Given the description of an element on the screen output the (x, y) to click on. 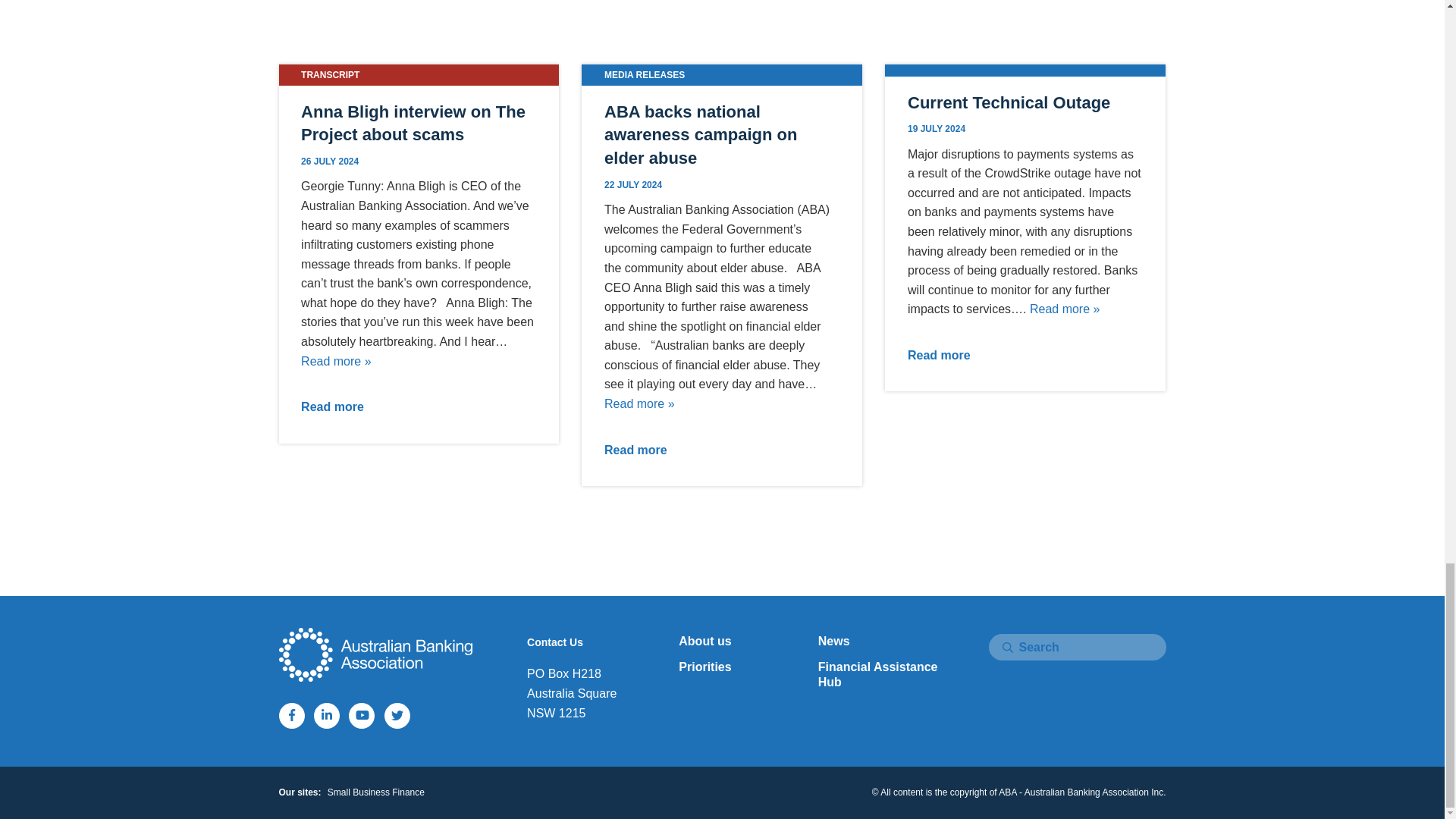
Read Anna Bligh interview on The Project about scams (336, 360)
Read Current Technical Outage (1064, 308)
Read ABA backs national awareness campaign on elder abuse (639, 403)
